Given the description of an element on the screen output the (x, y) to click on. 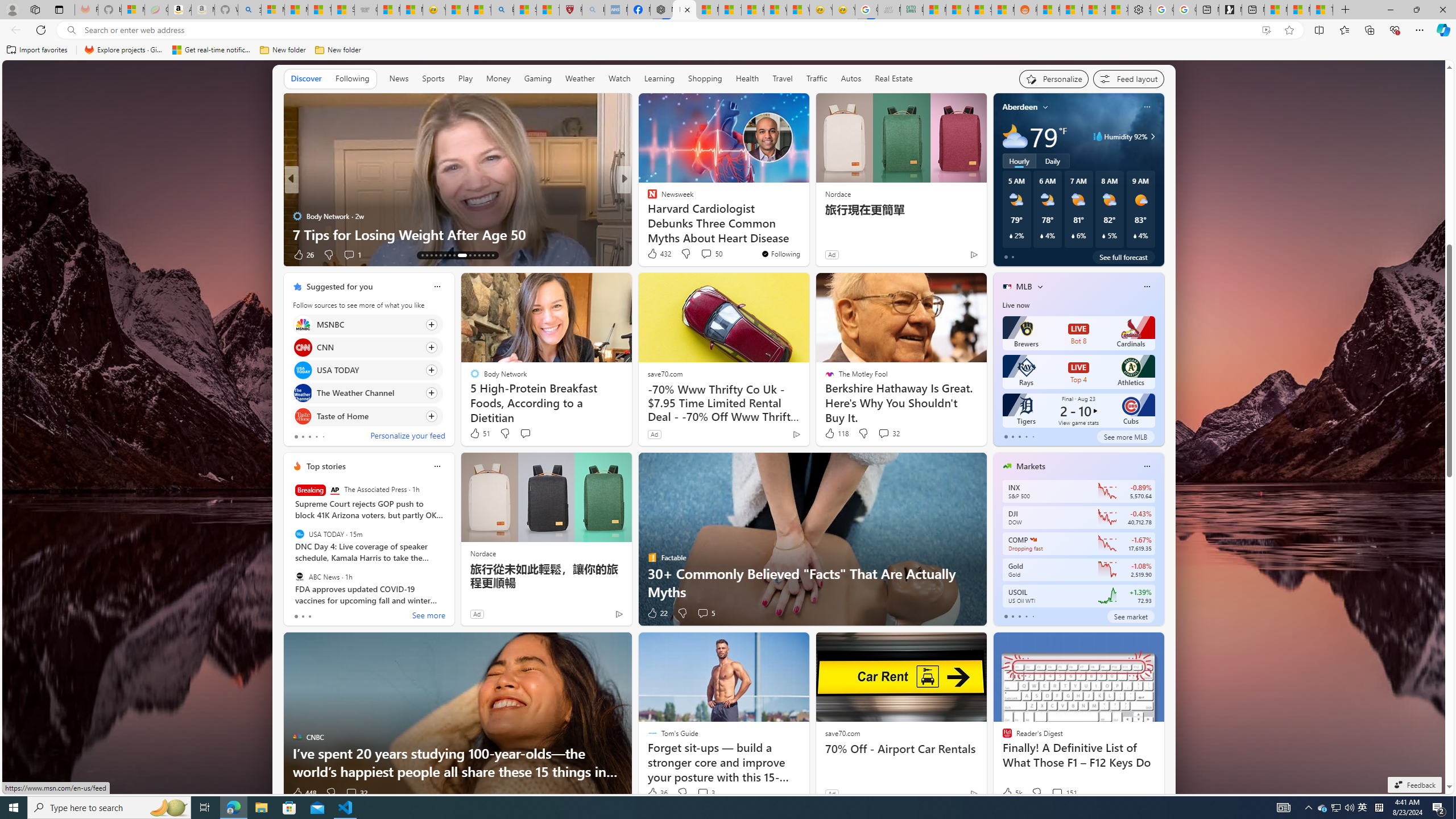
Real Estate (893, 79)
Click to follow source The Weather Channel (367, 392)
list of asthma inhalers uk - Search - Sleeping (593, 9)
New tab (1253, 9)
More interests (1039, 286)
Watch (619, 78)
Humidity 92% (1150, 136)
Class: icon-img (1146, 465)
Play (465, 78)
View comments 104 Comment (703, 254)
